Given the description of an element on the screen output the (x, y) to click on. 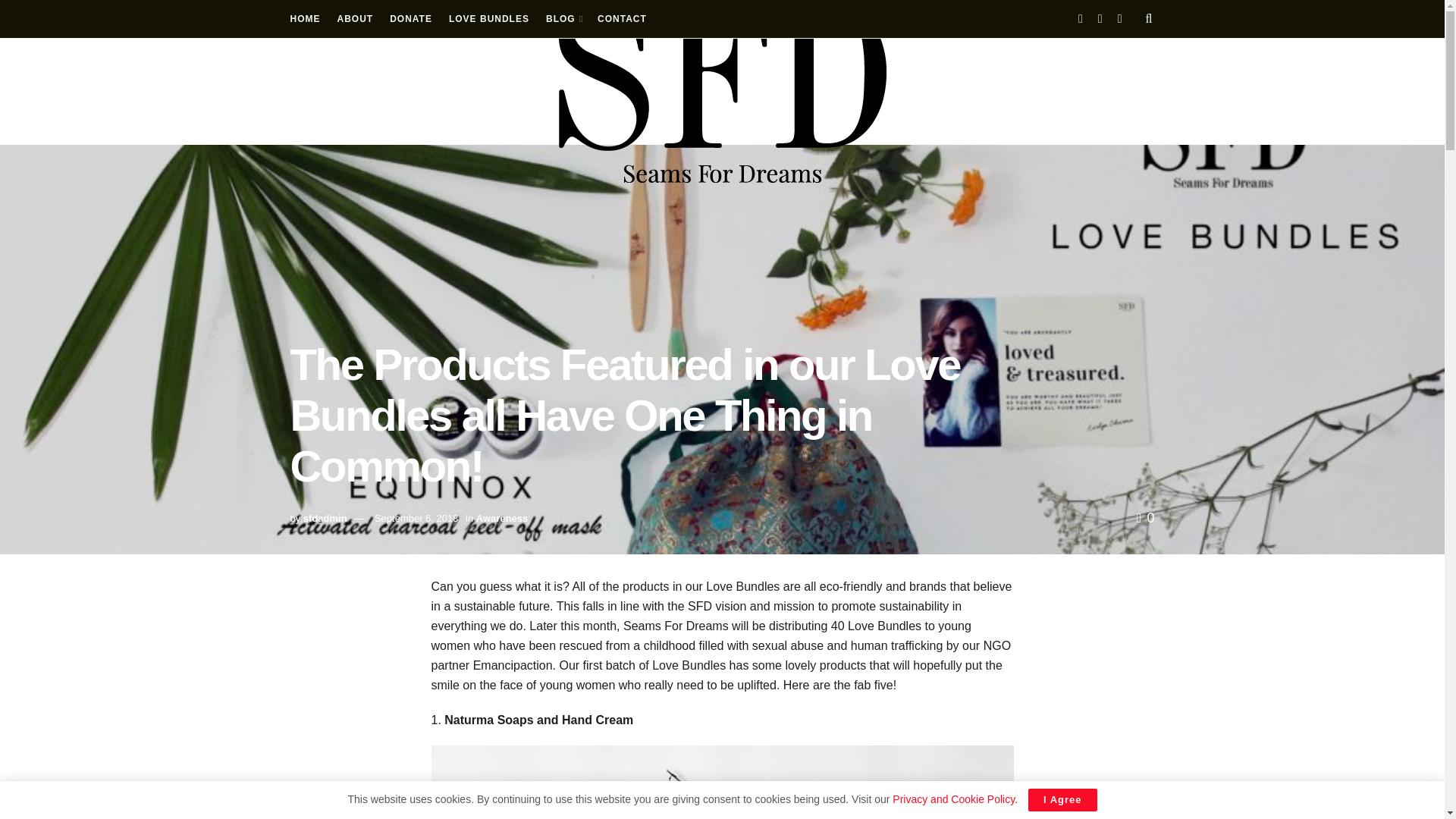
Awareness (501, 518)
LOVE BUNDLES (488, 18)
0 (1145, 517)
September 6, 2018 (416, 518)
DONATE (411, 18)
CONTACT (621, 18)
ABOUT (354, 18)
BLOG (563, 18)
sfdadmin (324, 518)
